Given the description of an element on the screen output the (x, y) to click on. 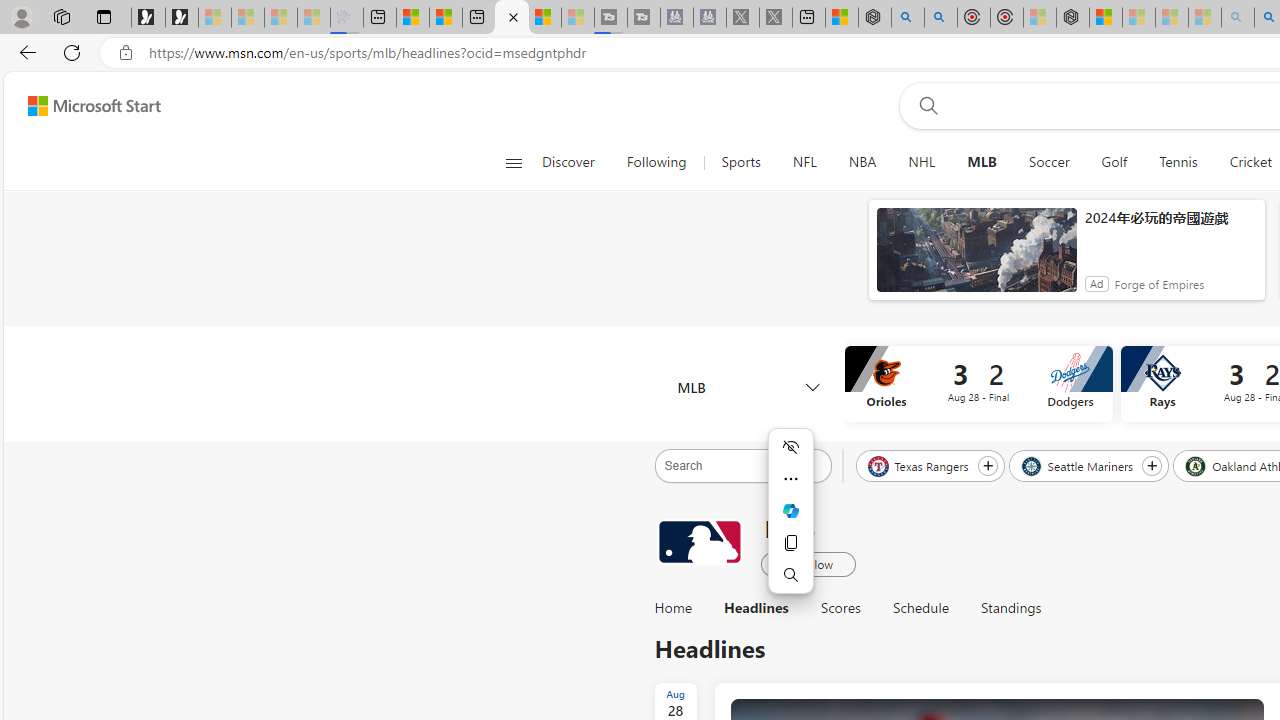
NHL (922, 162)
Soccer (1048, 162)
NHL (921, 162)
Seattle Mariners (1078, 465)
poe - Search (908, 17)
NBA (861, 162)
NFL (804, 162)
